Given the description of an element on the screen output the (x, y) to click on. 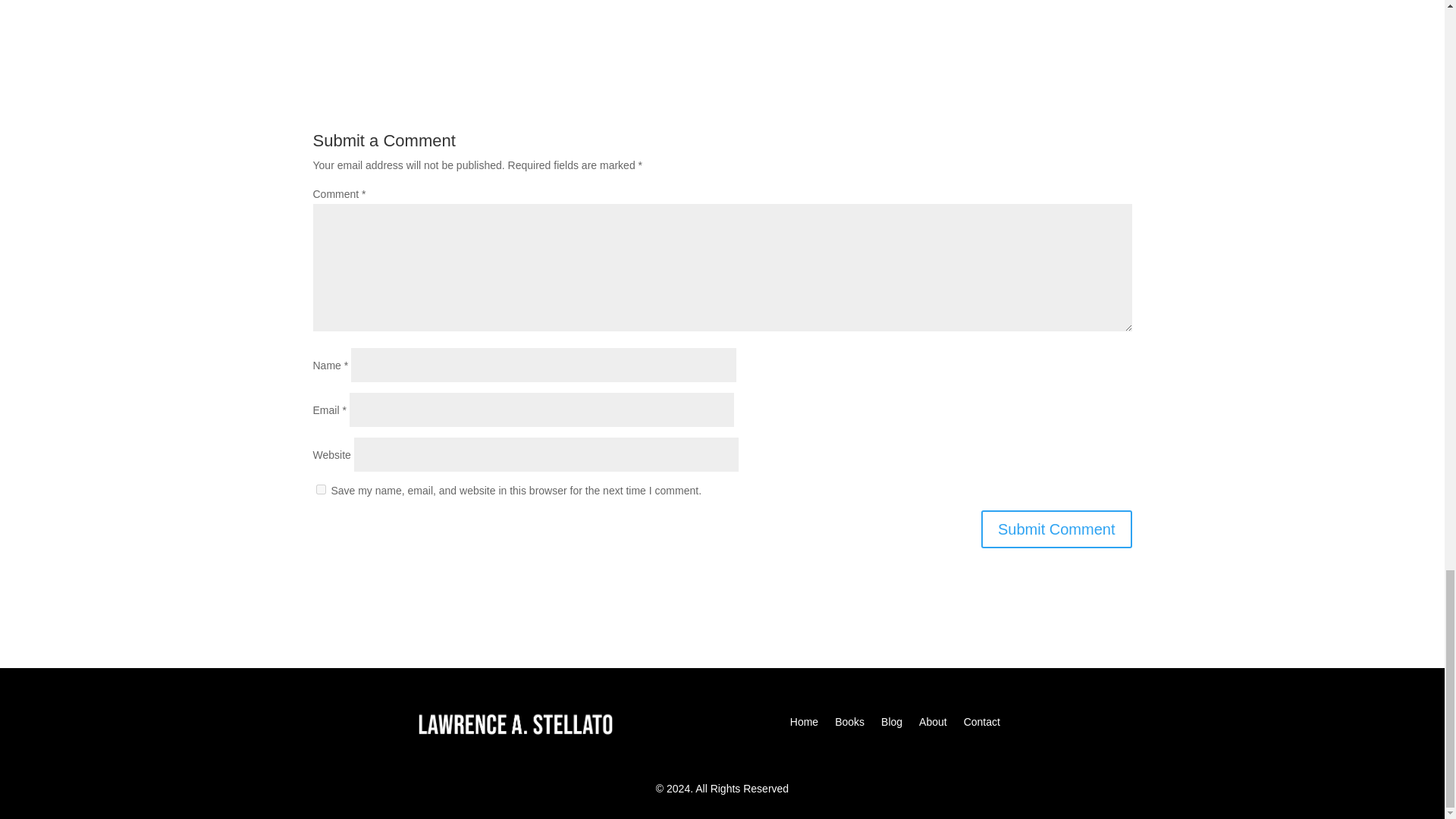
yes (319, 489)
Submit Comment (1056, 528)
Contact (981, 718)
Home (804, 718)
About (932, 718)
Blog (891, 718)
Books (849, 718)
Submit Comment (1056, 528)
